Given the description of an element on the screen output the (x, y) to click on. 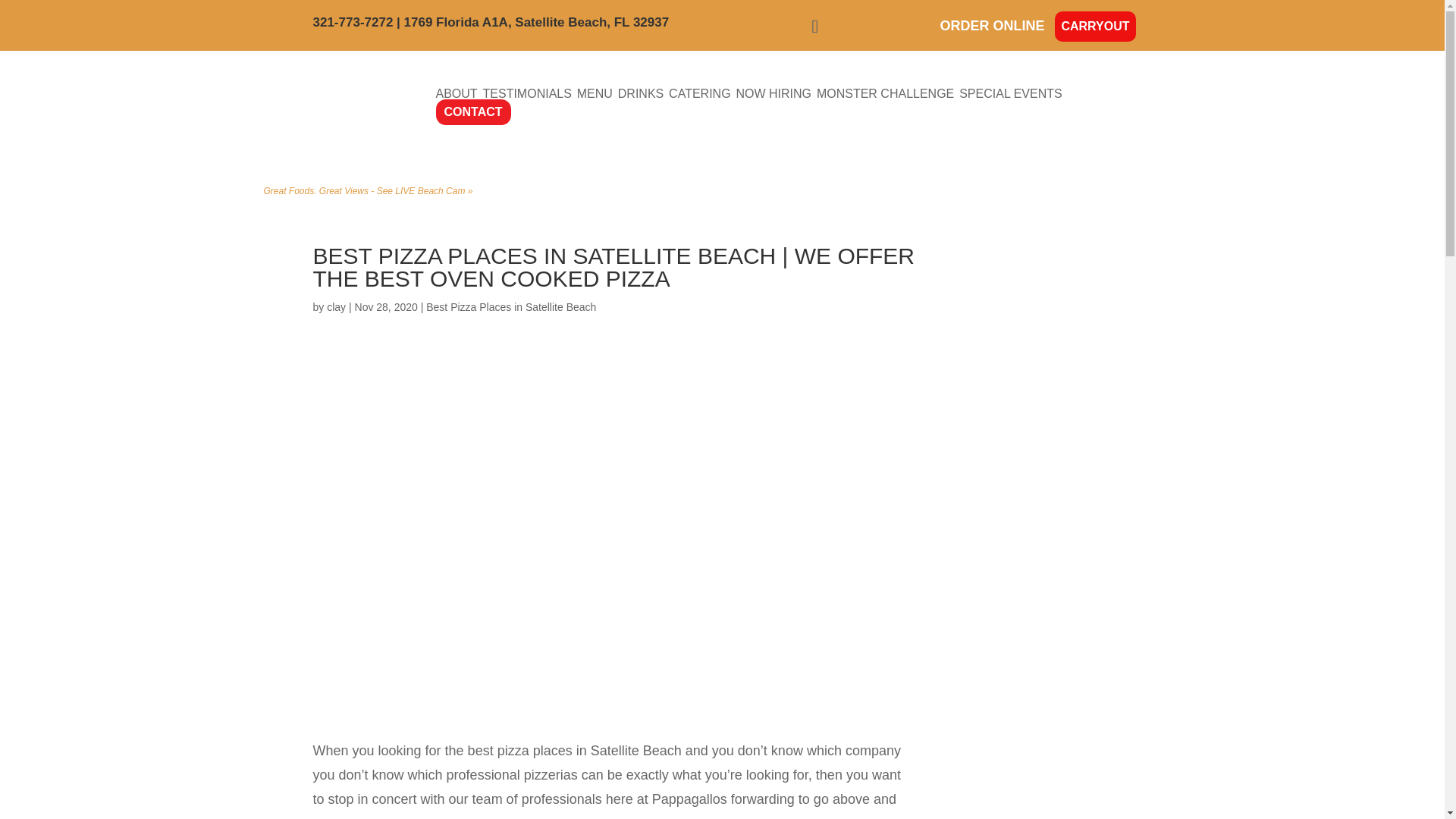
Posts by clay (336, 306)
MENU (594, 93)
SPECIAL EVENTS (1010, 93)
clay (336, 306)
Best Pizza Places in Satellite Beach (510, 306)
MONSTER CHALLENGE (884, 93)
CATERING (699, 93)
CARRYOUT (1094, 26)
DRINKS (640, 93)
TESTIMONIALS (527, 93)
ABOUT (456, 93)
NOW HIRING (772, 93)
CONTACT (473, 112)
